Given the description of an element on the screen output the (x, y) to click on. 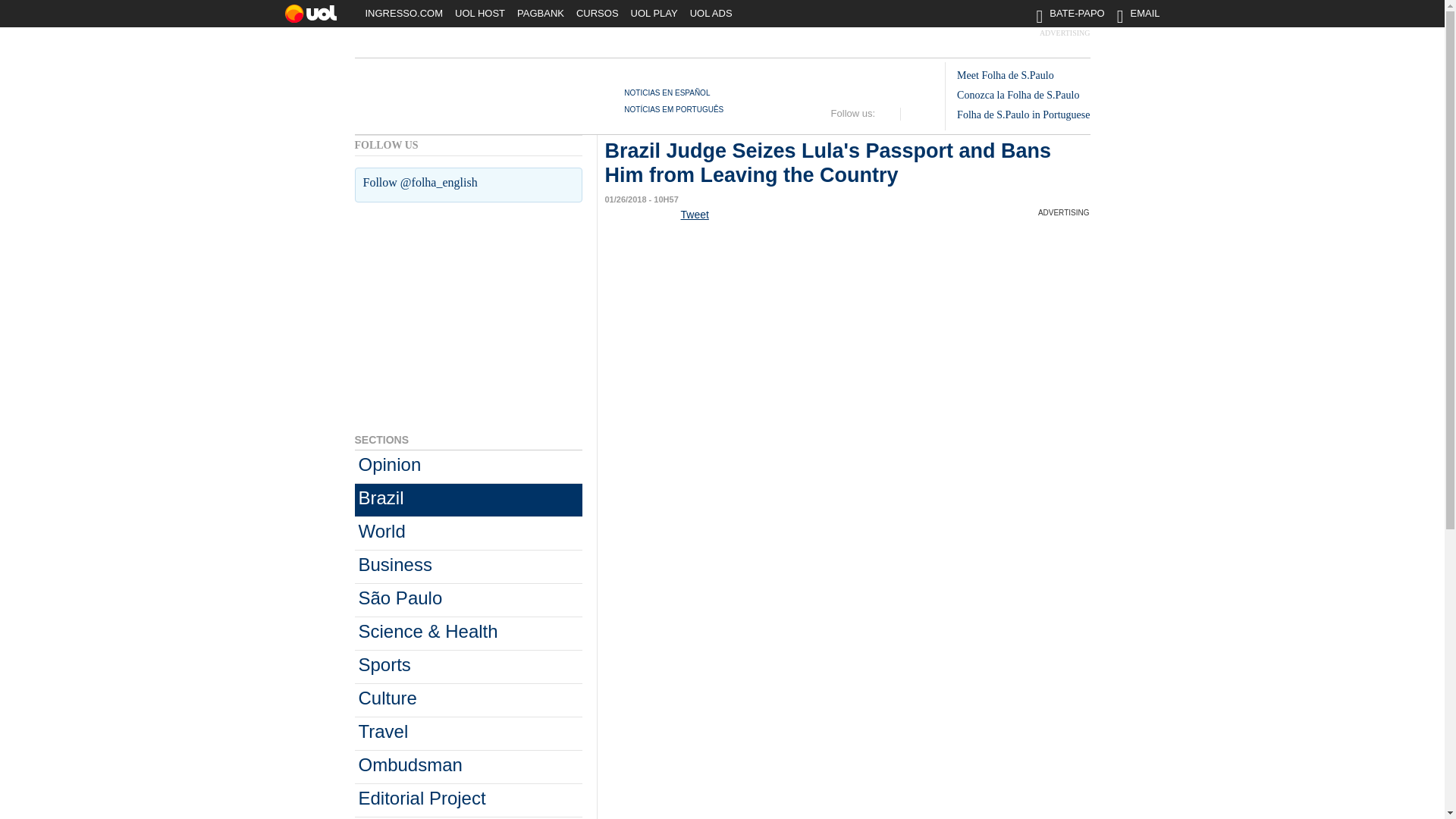
Twitter (889, 113)
Editorial Project (468, 799)
Culture (468, 699)
PAGBANK (540, 16)
Travel (468, 733)
INGRESSO.COM (404, 16)
Tweet (695, 214)
UOL PLAY (654, 16)
Business (468, 566)
Folha de S.Paulo in Portuguese (1022, 114)
